Given the description of an element on the screen output the (x, y) to click on. 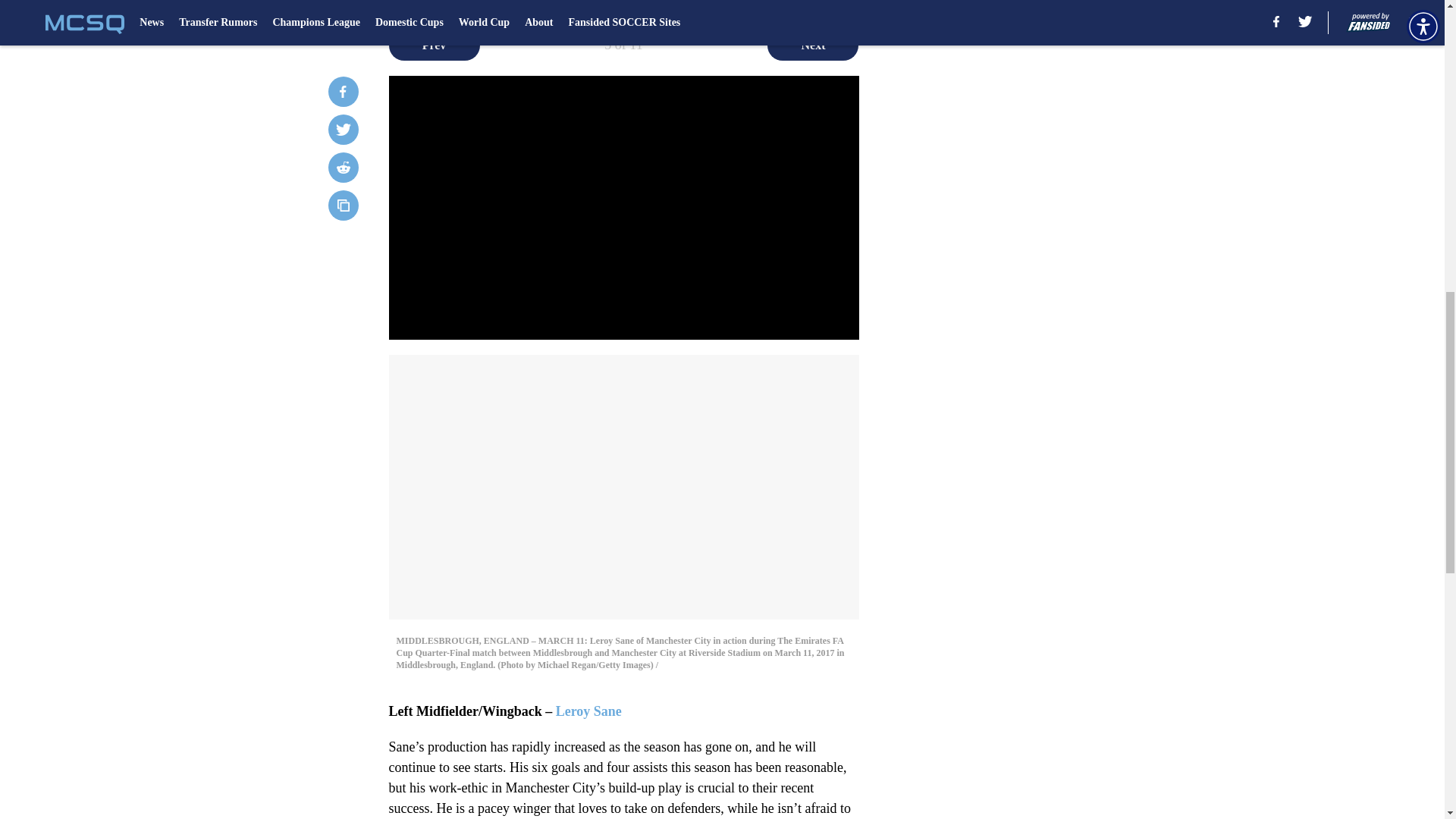
Leroy Sane (588, 711)
3rd party ad content (1047, 155)
Next (813, 45)
Prev (433, 45)
